Given the description of an element on the screen output the (x, y) to click on. 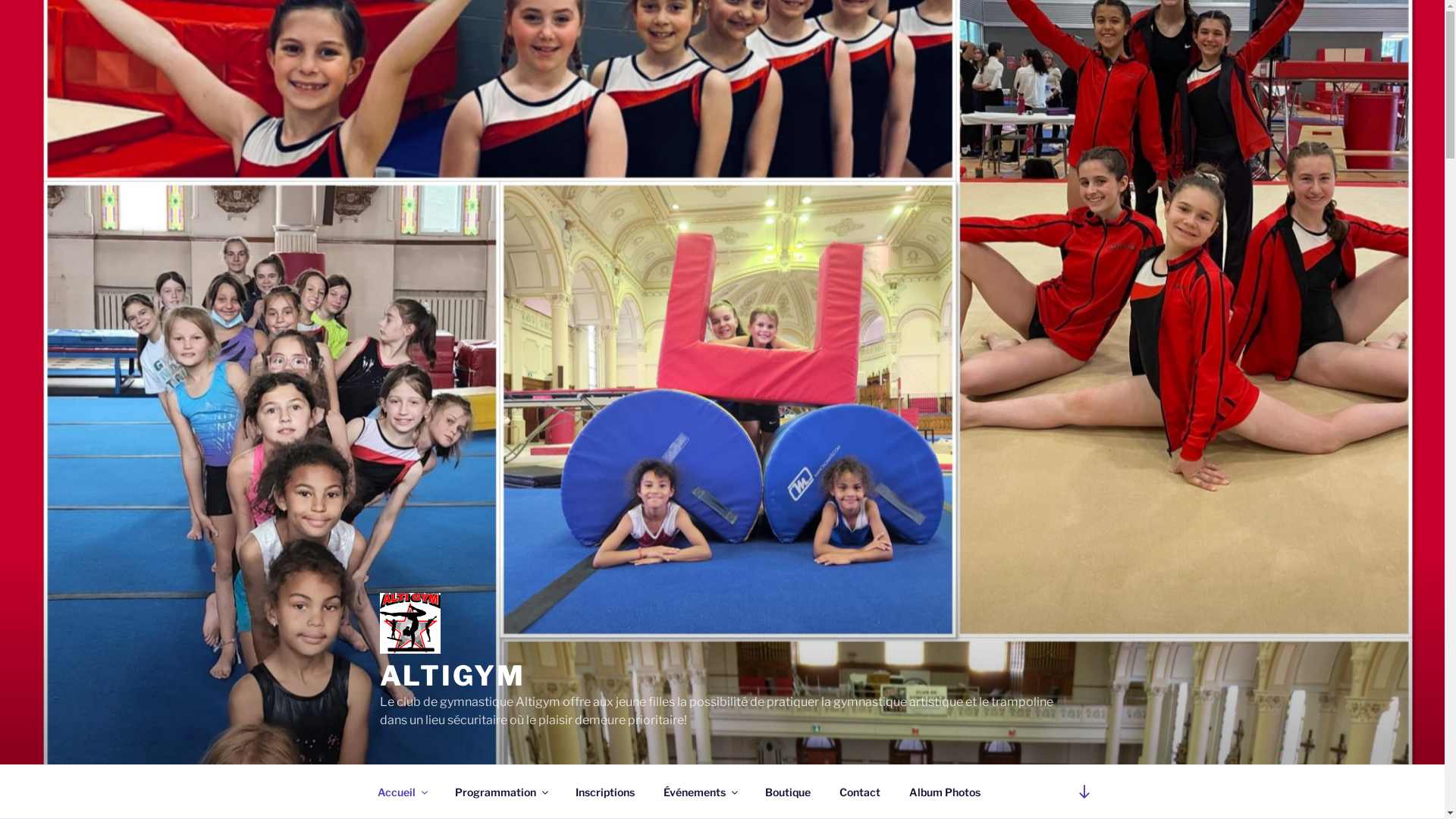
Album Photos Element type: text (945, 791)
Aller au contenu Element type: text (0, 0)
ALTIGYM Element type: text (451, 675)
Inscriptions Element type: text (605, 791)
Accueil Element type: text (401, 791)
Contact Element type: text (860, 791)
Boutique Element type: text (788, 791)
Programmation Element type: text (500, 791)
